Given the description of an element on the screen output the (x, y) to click on. 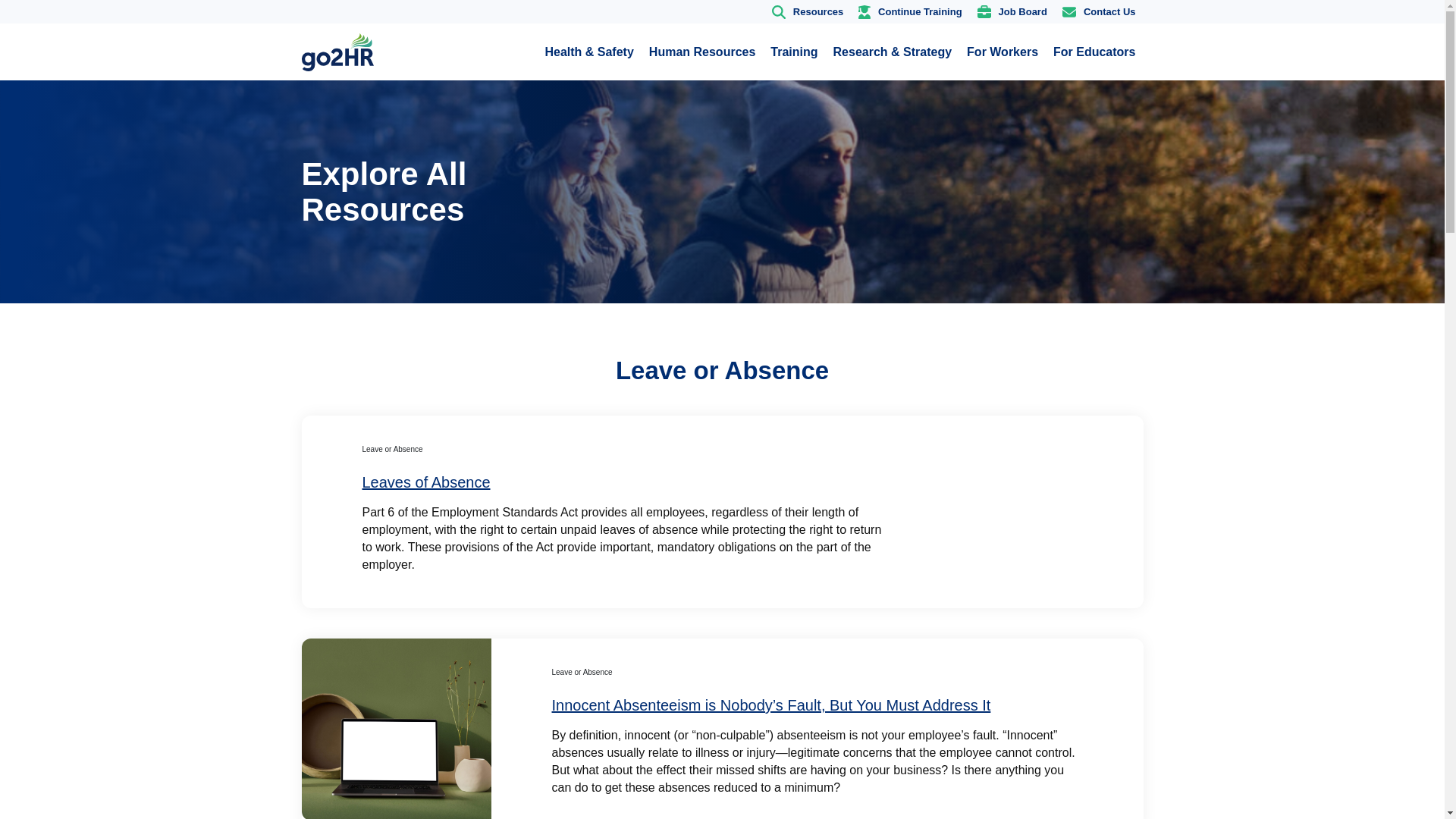
Resources (807, 11)
Job Board (1011, 11)
Contact Us (1098, 11)
Human Resources (702, 51)
Training (793, 51)
Continue Training (909, 11)
